Given the description of an element on the screen output the (x, y) to click on. 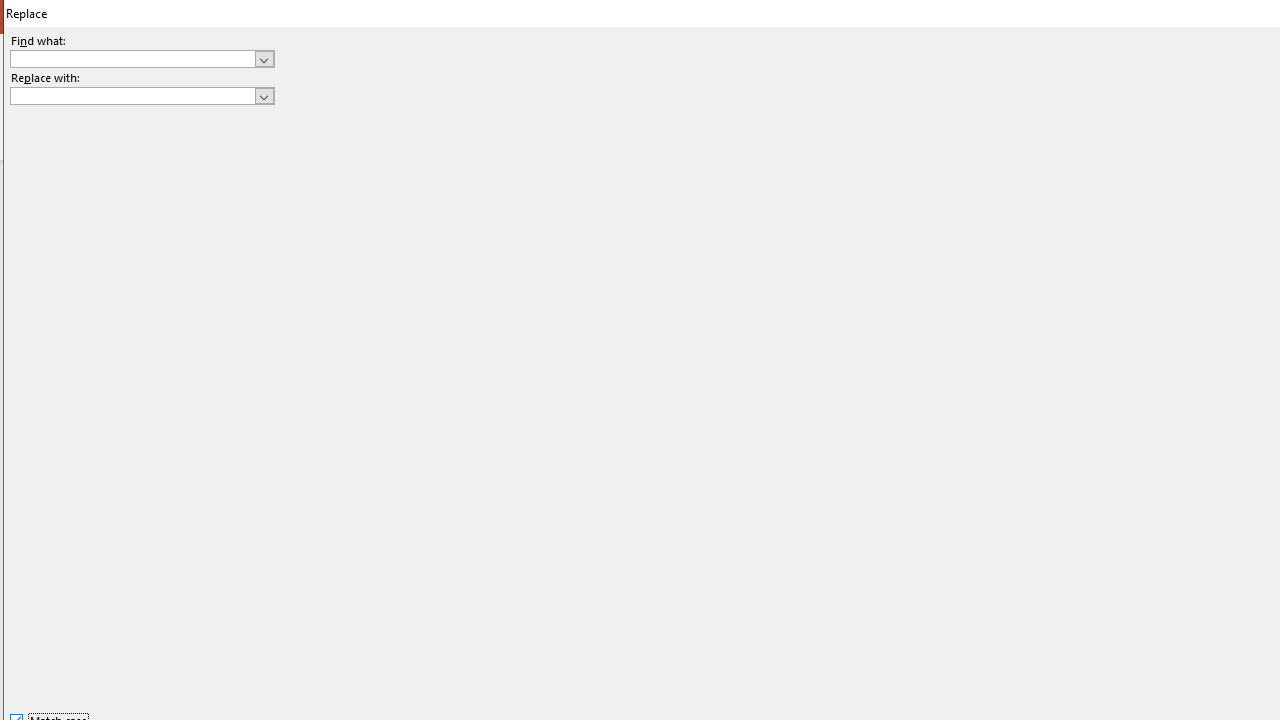
Replace with (142, 96)
Replace with (132, 95)
Find what (142, 58)
Find what (132, 58)
